Given the description of an element on the screen output the (x, y) to click on. 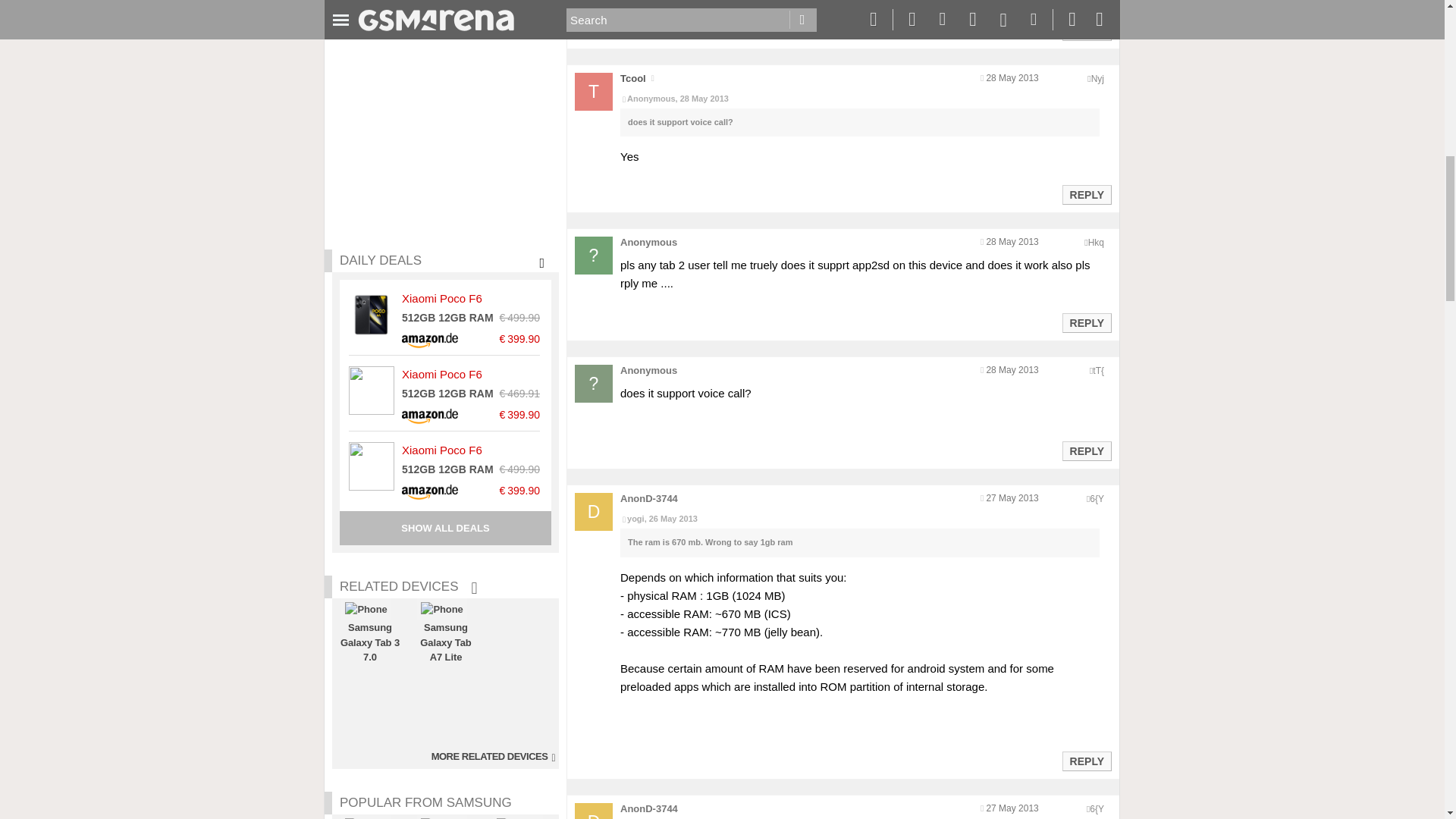
Reply to this post (1086, 194)
Encoded anonymized location (1095, 242)
Encoded anonymized location (1096, 78)
Encoded anonymized location (1096, 498)
Reply to this post (1086, 30)
Encoded anonymized location (1098, 370)
Reply to this post (1086, 322)
Reply to this post (1086, 451)
